Given the description of an element on the screen output the (x, y) to click on. 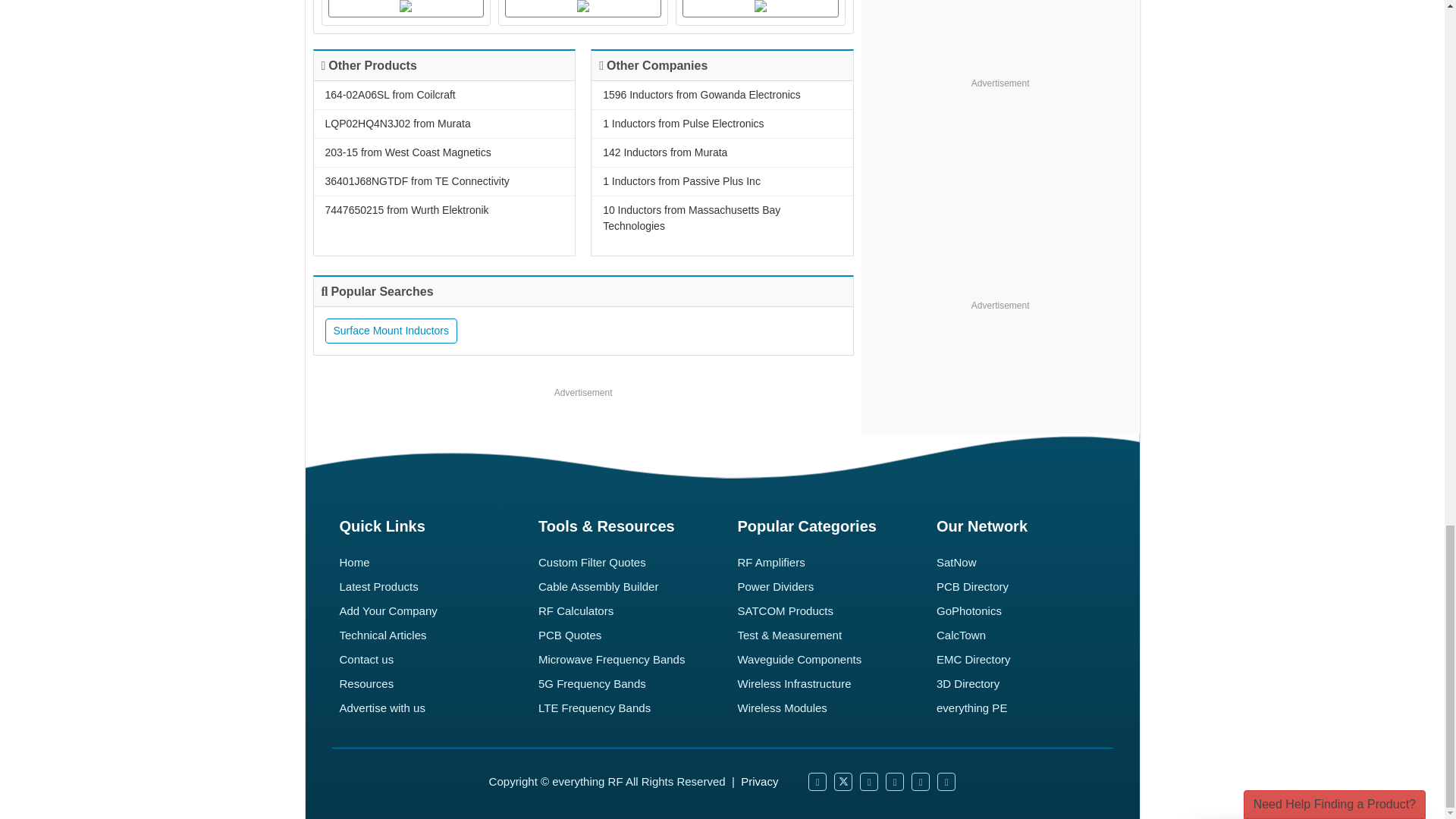
News RSS xml feed (894, 782)
Products and News RSS xml feed (946, 782)
Products RSS xml feed (920, 782)
